Given the description of an element on the screen output the (x, y) to click on. 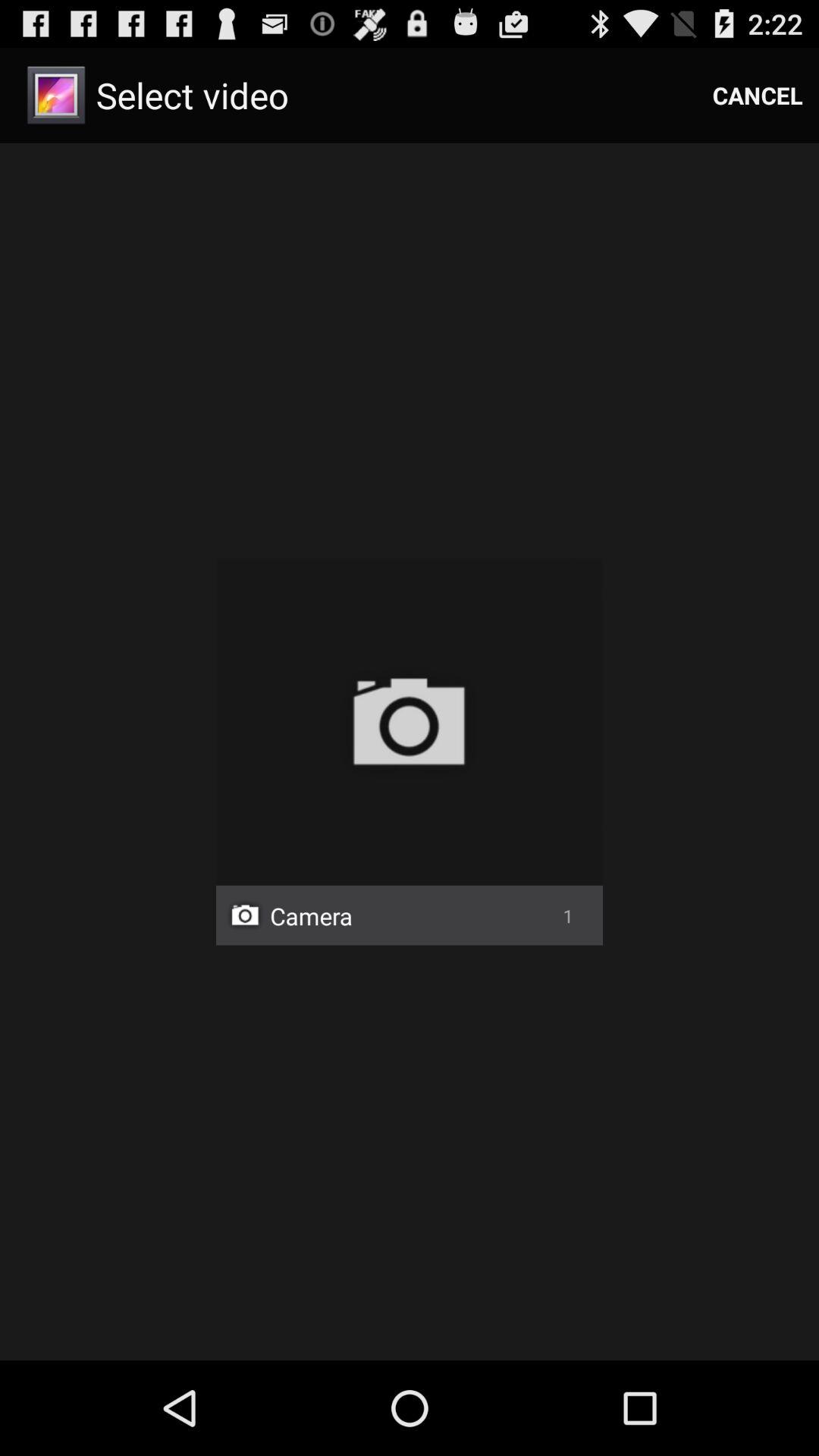
select the item at the top right corner (757, 95)
